Given the description of an element on the screen output the (x, y) to click on. 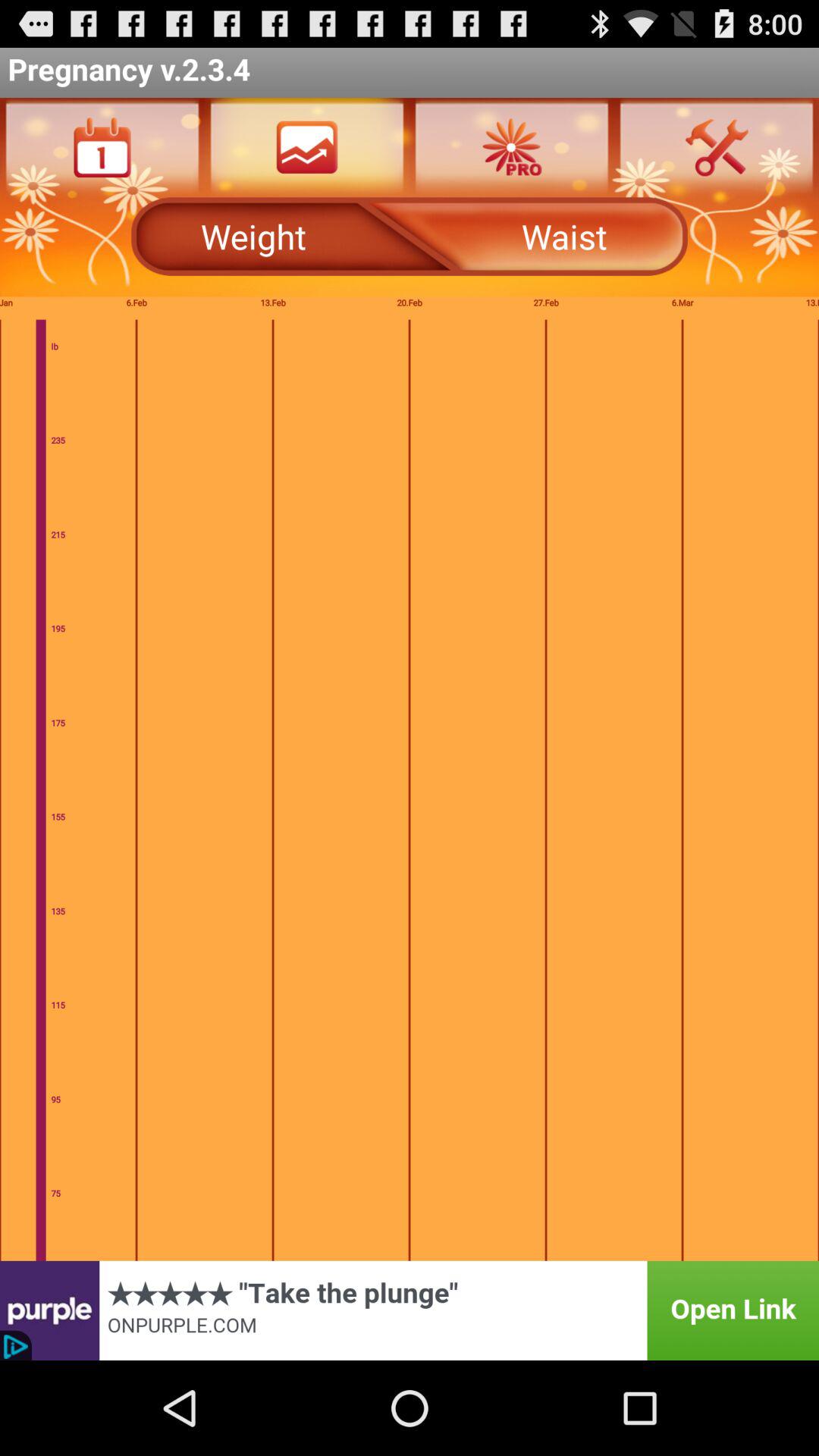
open link to go to advertisement (409, 1310)
